Given the description of an element on the screen output the (x, y) to click on. 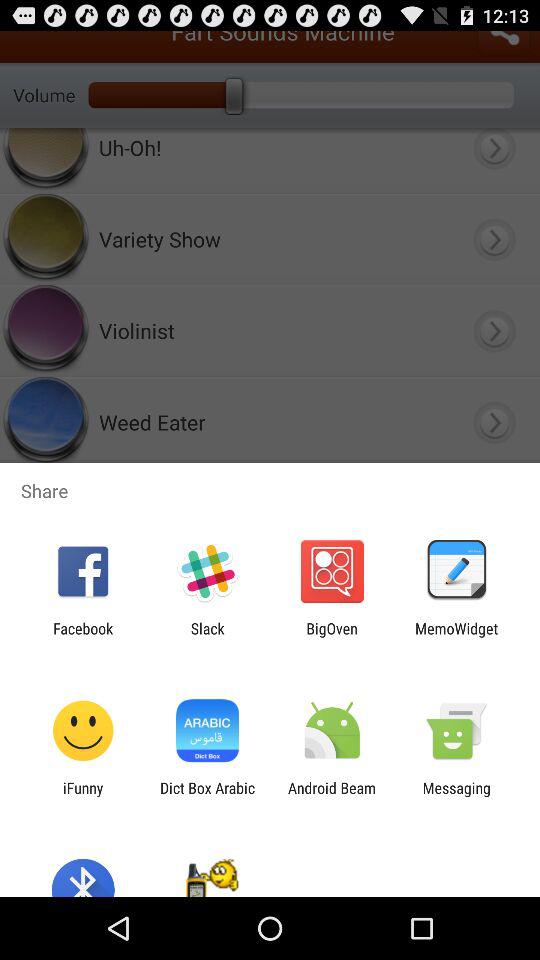
select item next to android beam icon (207, 796)
